Given the description of an element on the screen output the (x, y) to click on. 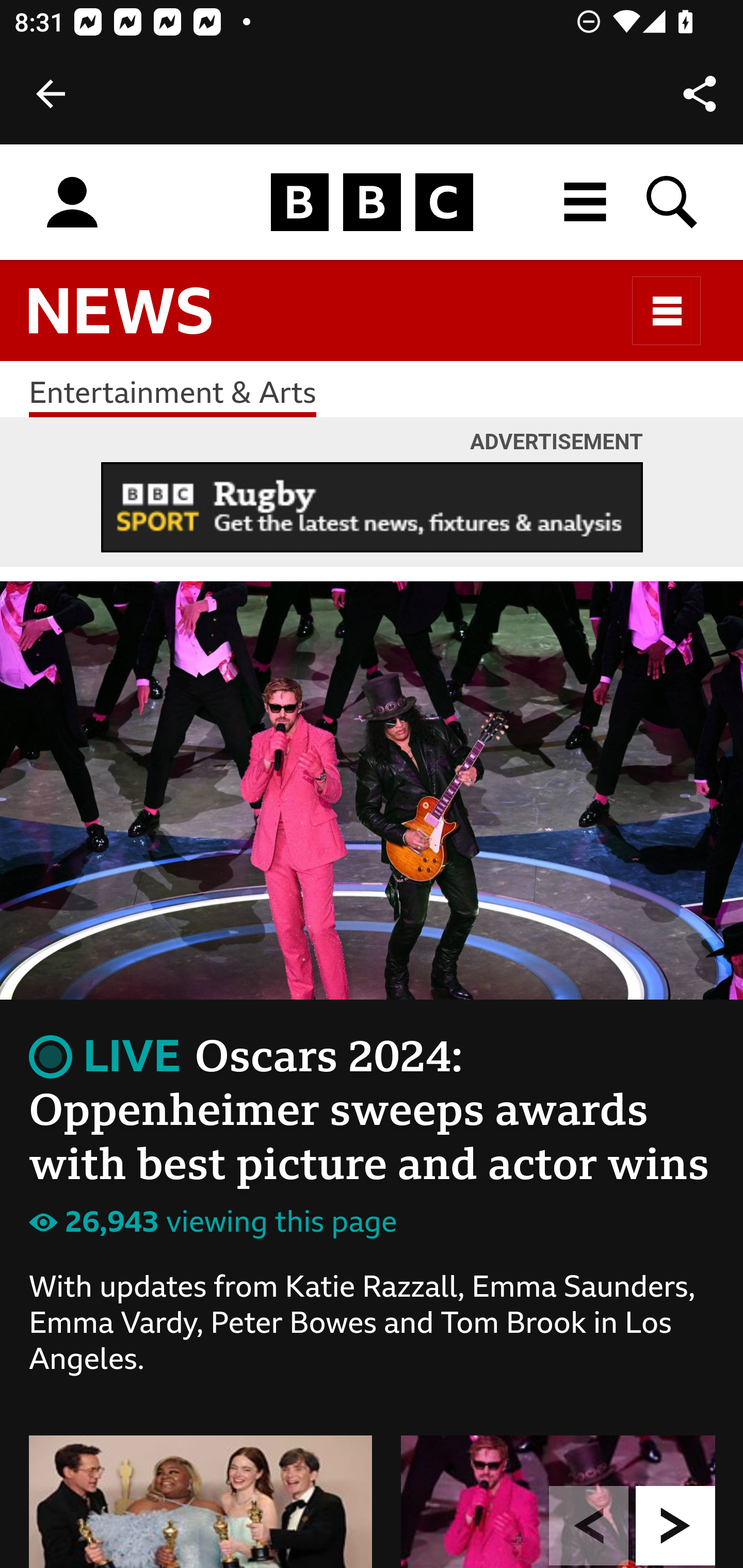
Back (50, 93)
Share (699, 93)
All BBC destinations menu (585, 202)
Search BBC (672, 202)
Sign in (71, 203)
Homepage (371, 203)
Sections (667, 310)
BBC News (136, 319)
previous (589, 1524)
next (676, 1524)
